Given the description of an element on the screen output the (x, y) to click on. 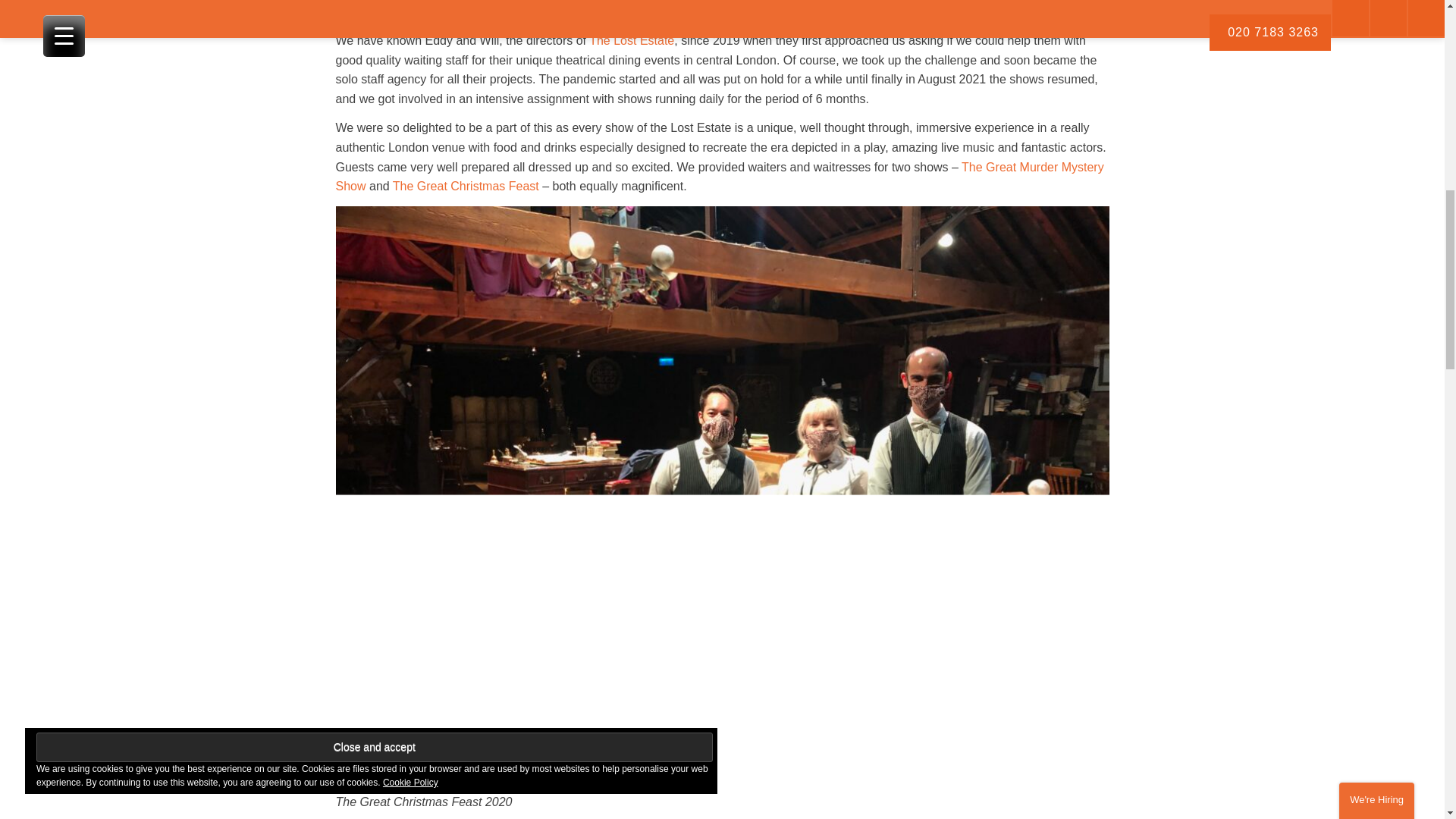
The Great Christmas Feast (465, 185)
The Lost Estate (631, 40)
The Great Murder Mystery Show (718, 176)
